Given the description of an element on the screen output the (x, y) to click on. 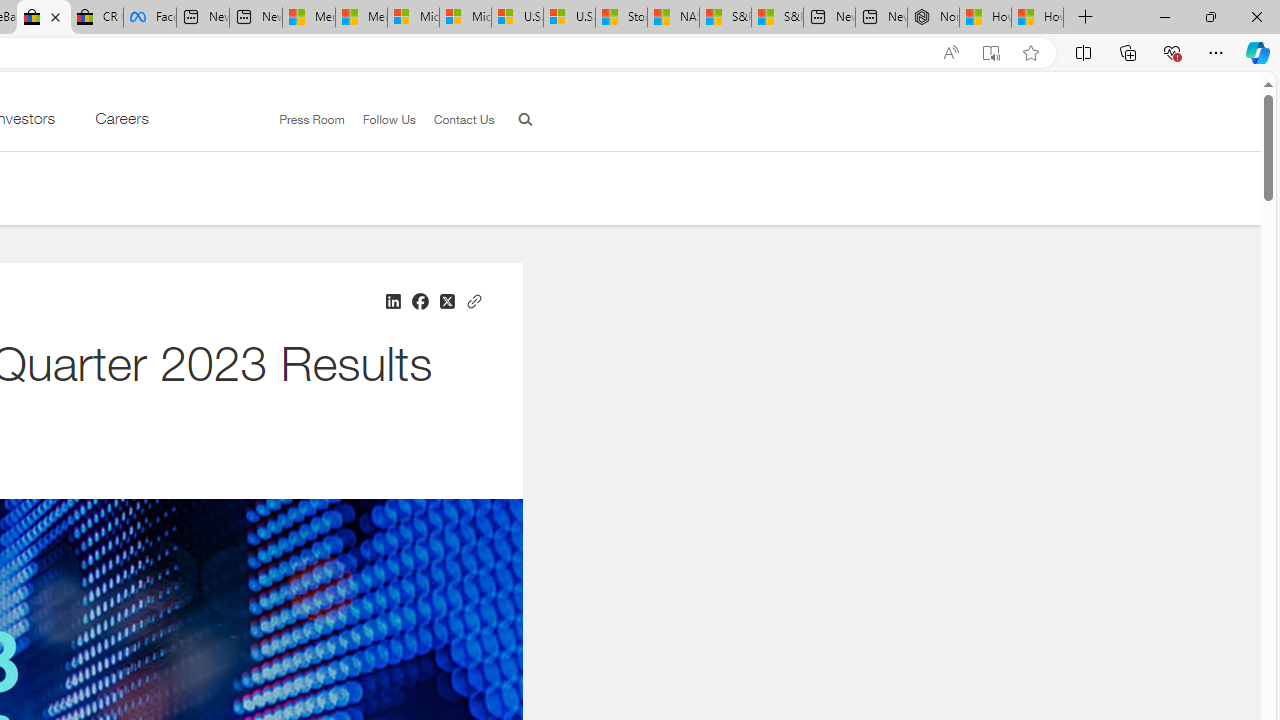
Add this page to favorites (Ctrl+D) (1030, 53)
Contact Us (463, 119)
Careers (121, 123)
Share on LinkedIn (392, 301)
Press Room (303, 120)
Restore (1210, 16)
